Given the description of an element on the screen output the (x, y) to click on. 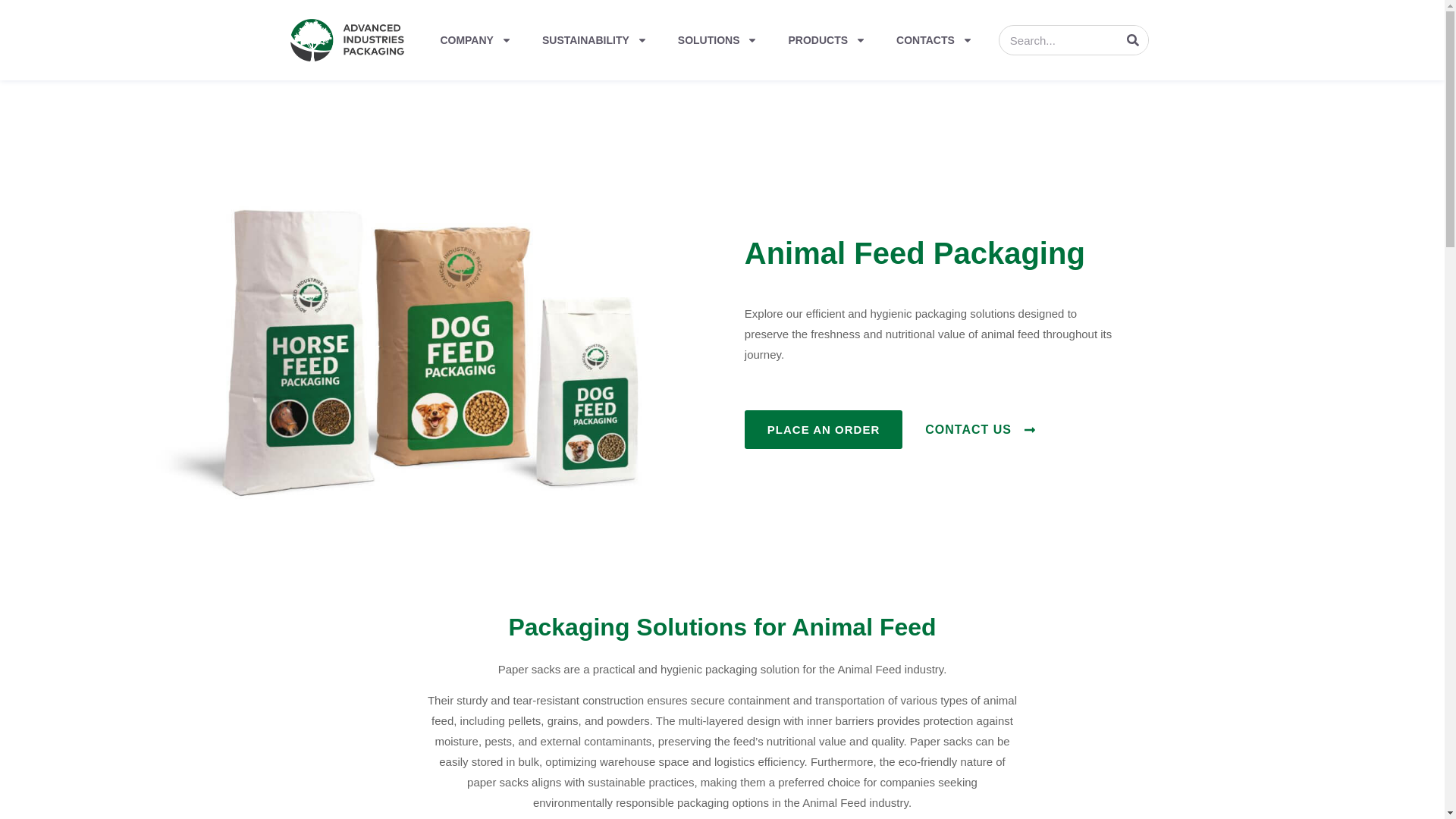
SOLUTIONS (717, 40)
CONTACTS (934, 40)
PRODUCTS (826, 40)
SUSTAINABILITY (594, 40)
COMPANY (476, 40)
